Given the description of an element on the screen output the (x, y) to click on. 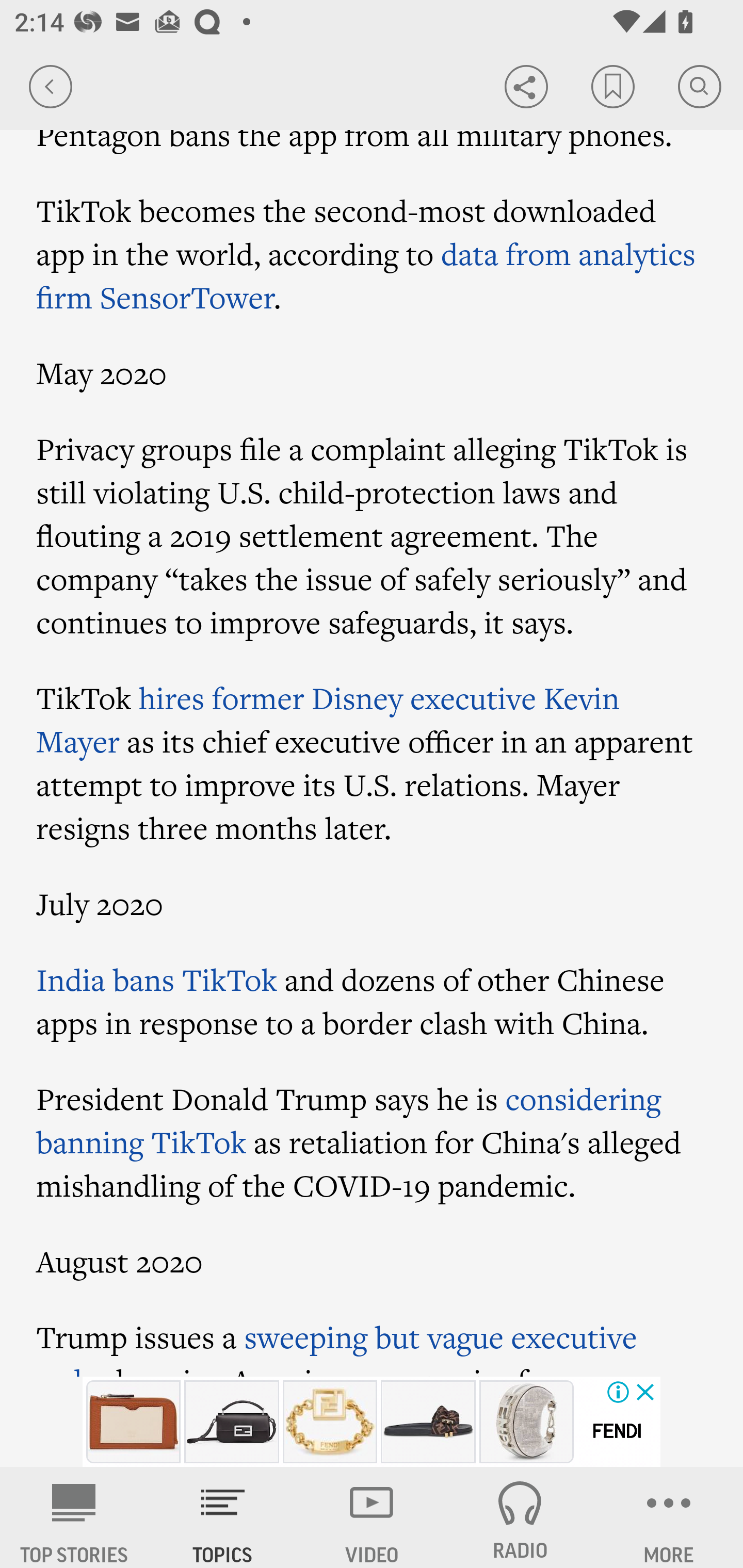
data from analytics firm SensorTower (366, 275)
hires former Disney executive Kevin Mayer (328, 719)
India bans TikTok (156, 979)
considering banning TikTok (349, 1120)
sweeping but vague executive order (336, 1345)
fendi-feel-brown-satin-slides-8x8142ae7sf0r7v (428, 1420)
AP News TOP STORIES (74, 1517)
TOPICS (222, 1517)
VIDEO (371, 1517)
RADIO (519, 1517)
MORE (668, 1517)
